Given the description of an element on the screen output the (x, y) to click on. 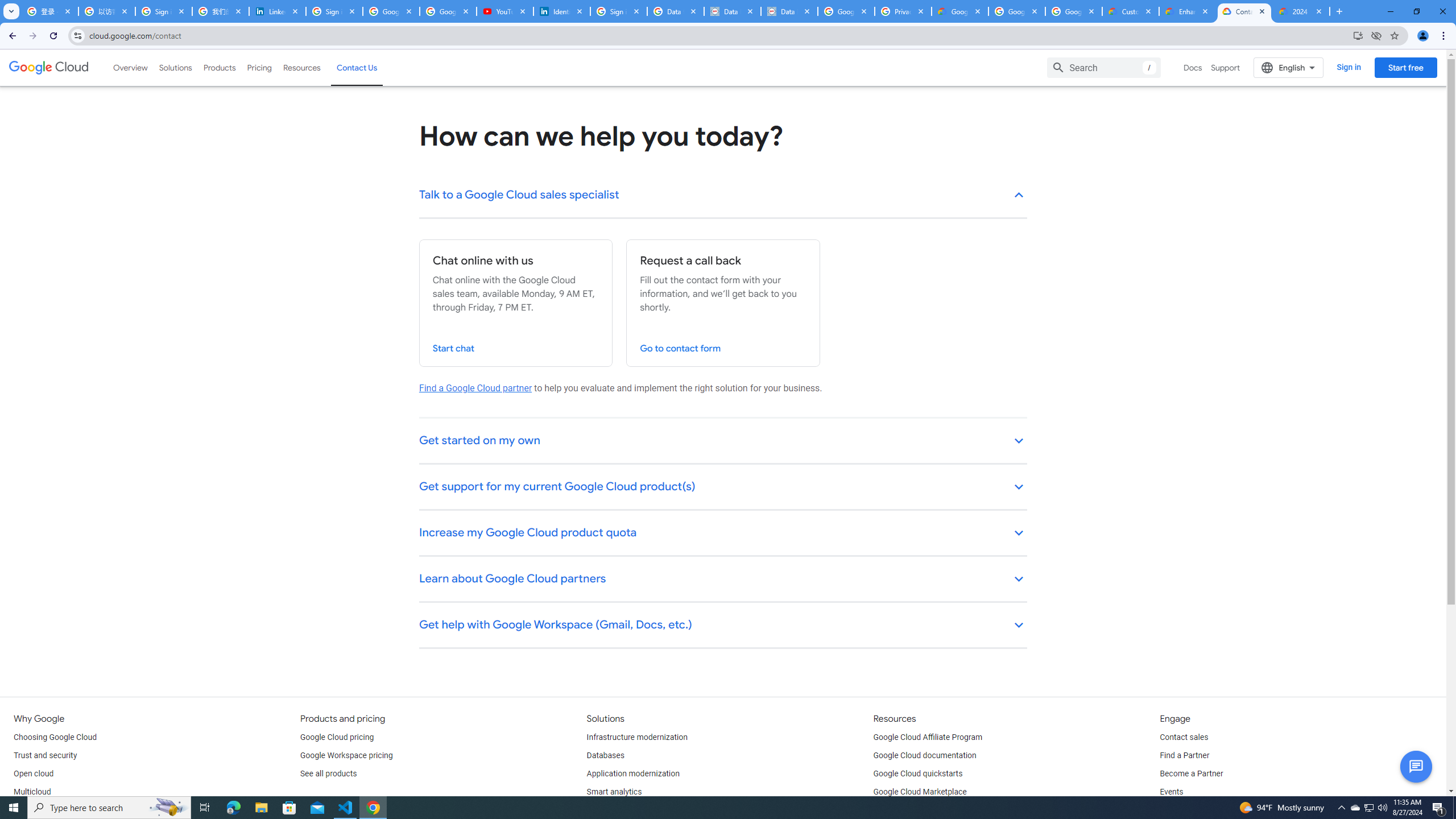
Talk to a Google Cloud sales specialist keyboard_arrow_up (723, 195)
Google Cloud Marketplace (919, 791)
Sign in - Google Accounts (618, 11)
Multicloud (31, 791)
